Given the description of an element on the screen output the (x, y) to click on. 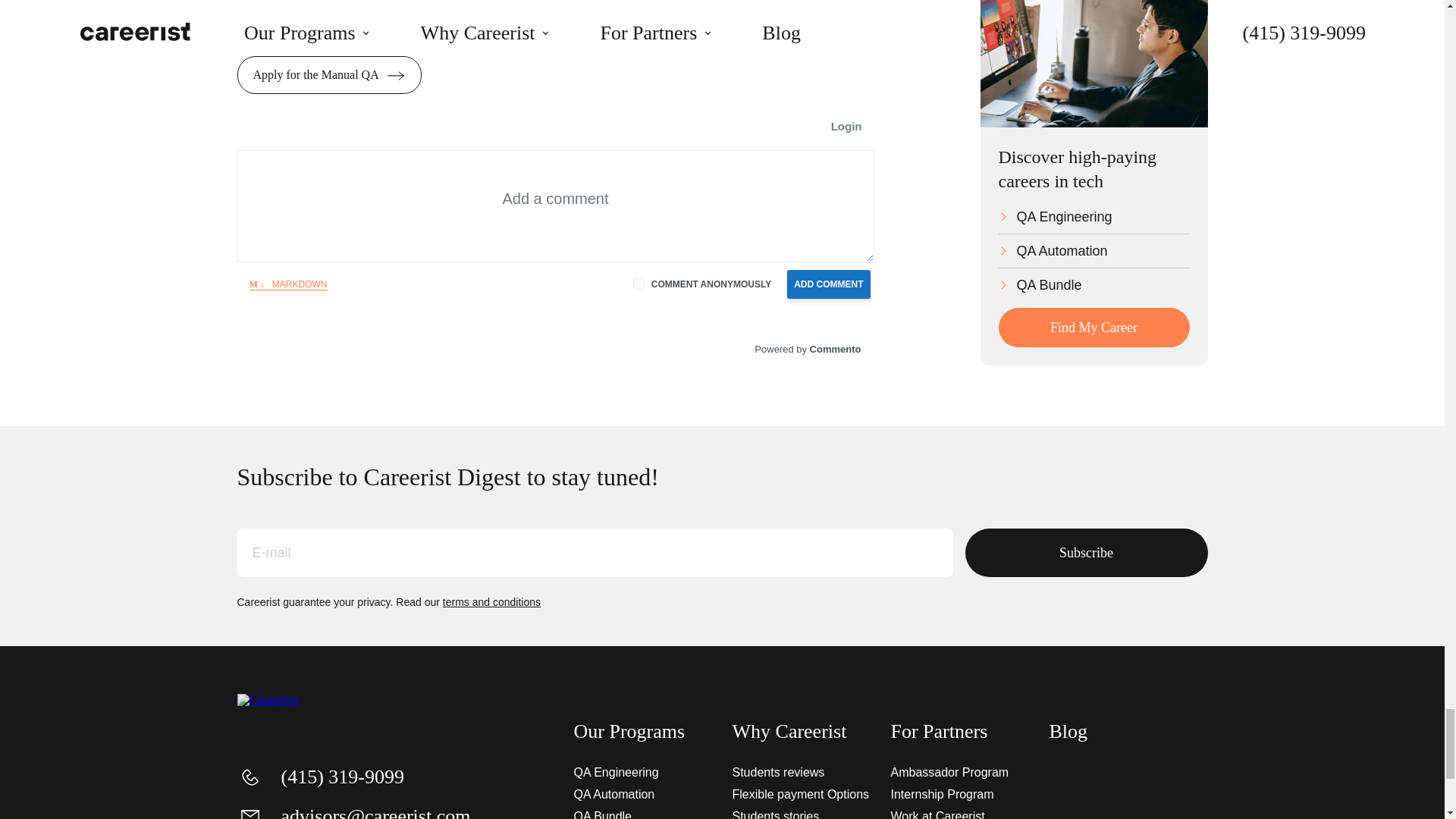
Apply for the Manual QA (327, 75)
Commento (807, 349)
ADD COMMENT (828, 284)
